Given the description of an element on the screen output the (x, y) to click on. 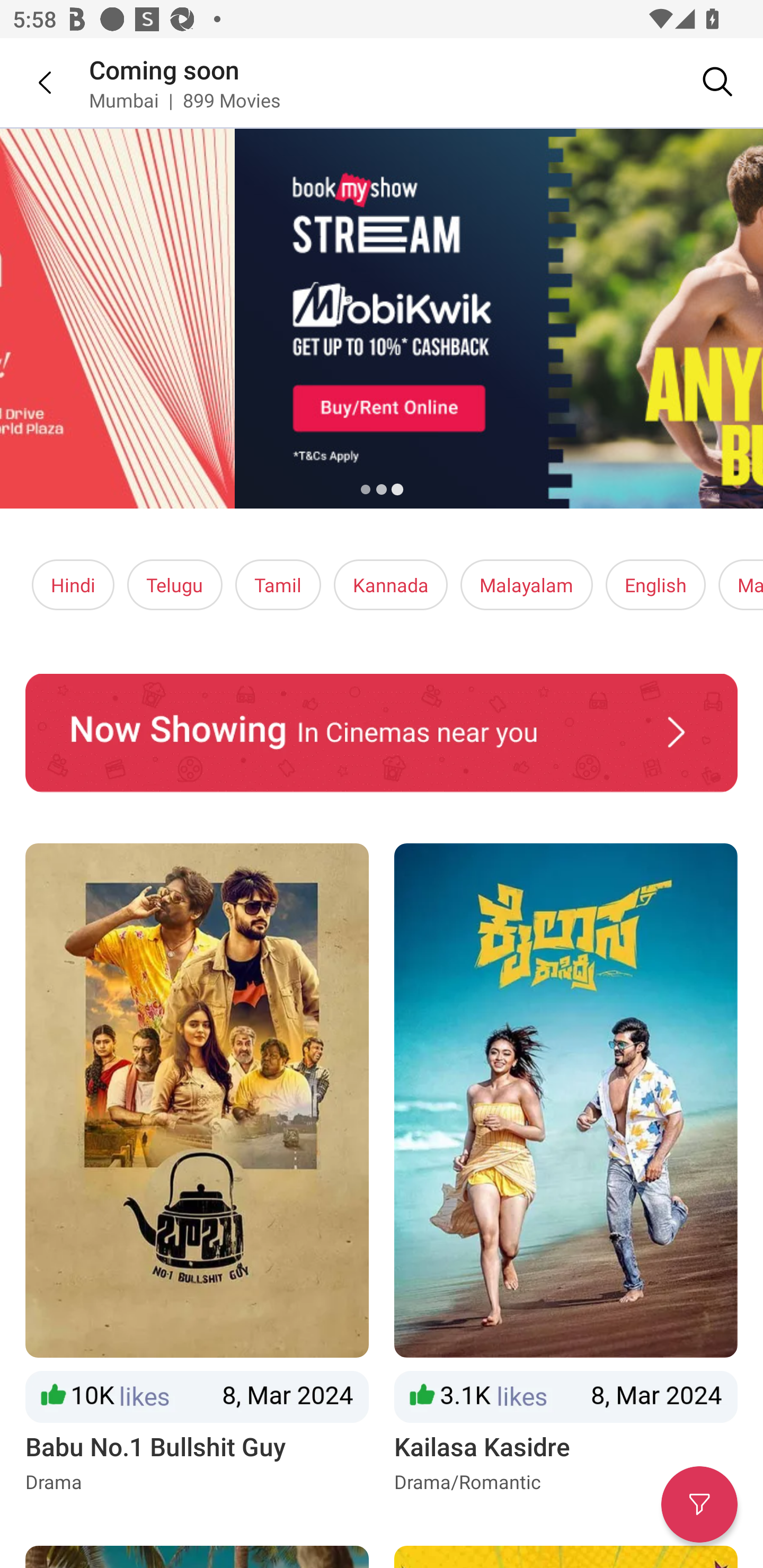
Back (31, 82)
Coming soon (164, 68)
Mumbai  |  899 Movies (184, 99)
Hindi (73, 584)
Telugu (174, 584)
Tamil (278, 584)
Kannada (390, 584)
Malayalam (526, 584)
English (655, 584)
Babu No.1 Bullshit Guy Drama (196, 1168)
Kailasa Kasidre Drama/Romantic (565, 1168)
Filter (699, 1504)
